Given the description of an element on the screen output the (x, y) to click on. 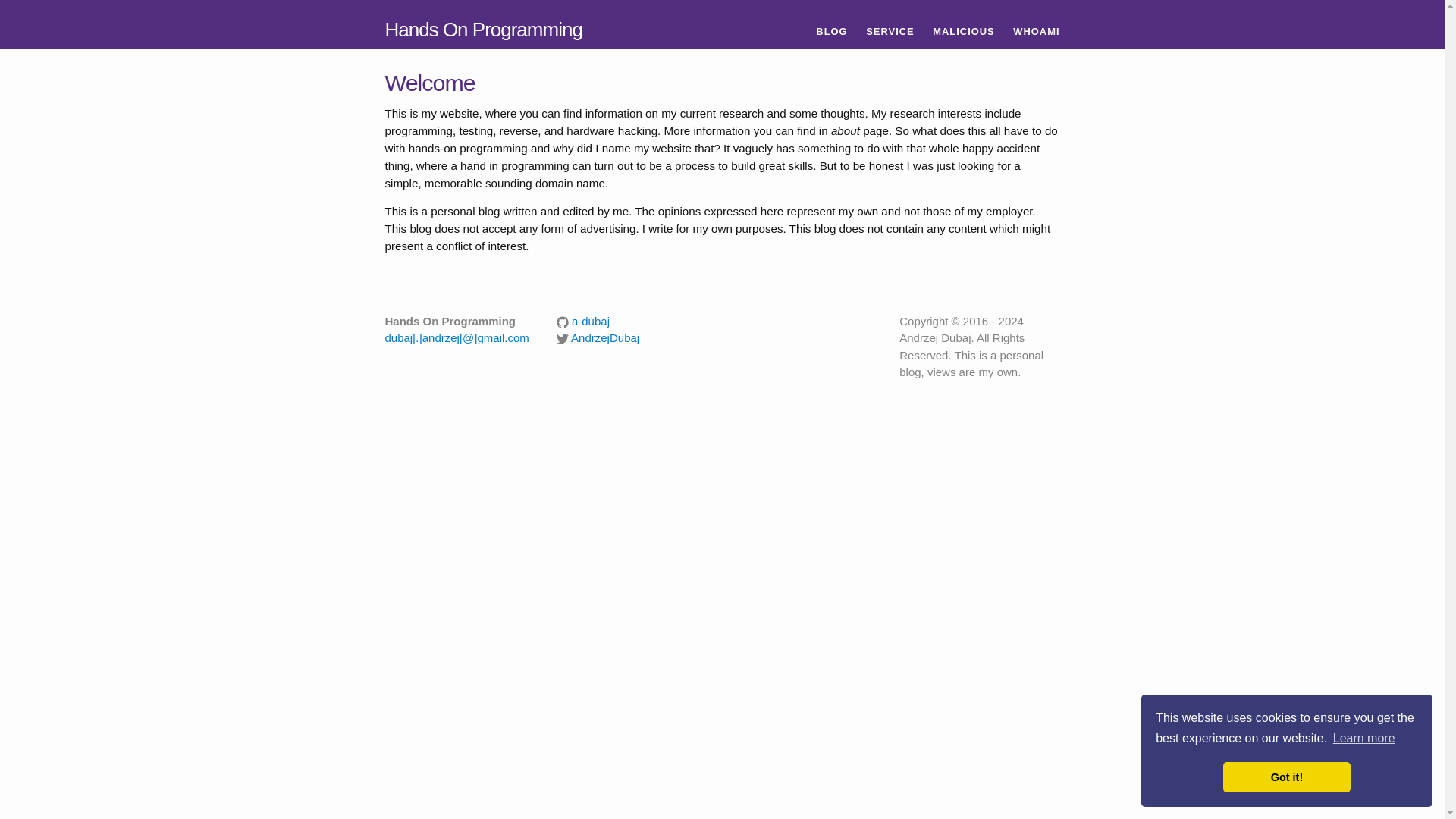
a-dubaj (583, 320)
MALICIOUS (963, 31)
Hands On Programming (483, 30)
AndrzejDubaj (597, 337)
WHOAMI (1036, 31)
BLOG (831, 31)
SERVICE (890, 31)
